Given the description of an element on the screen output the (x, y) to click on. 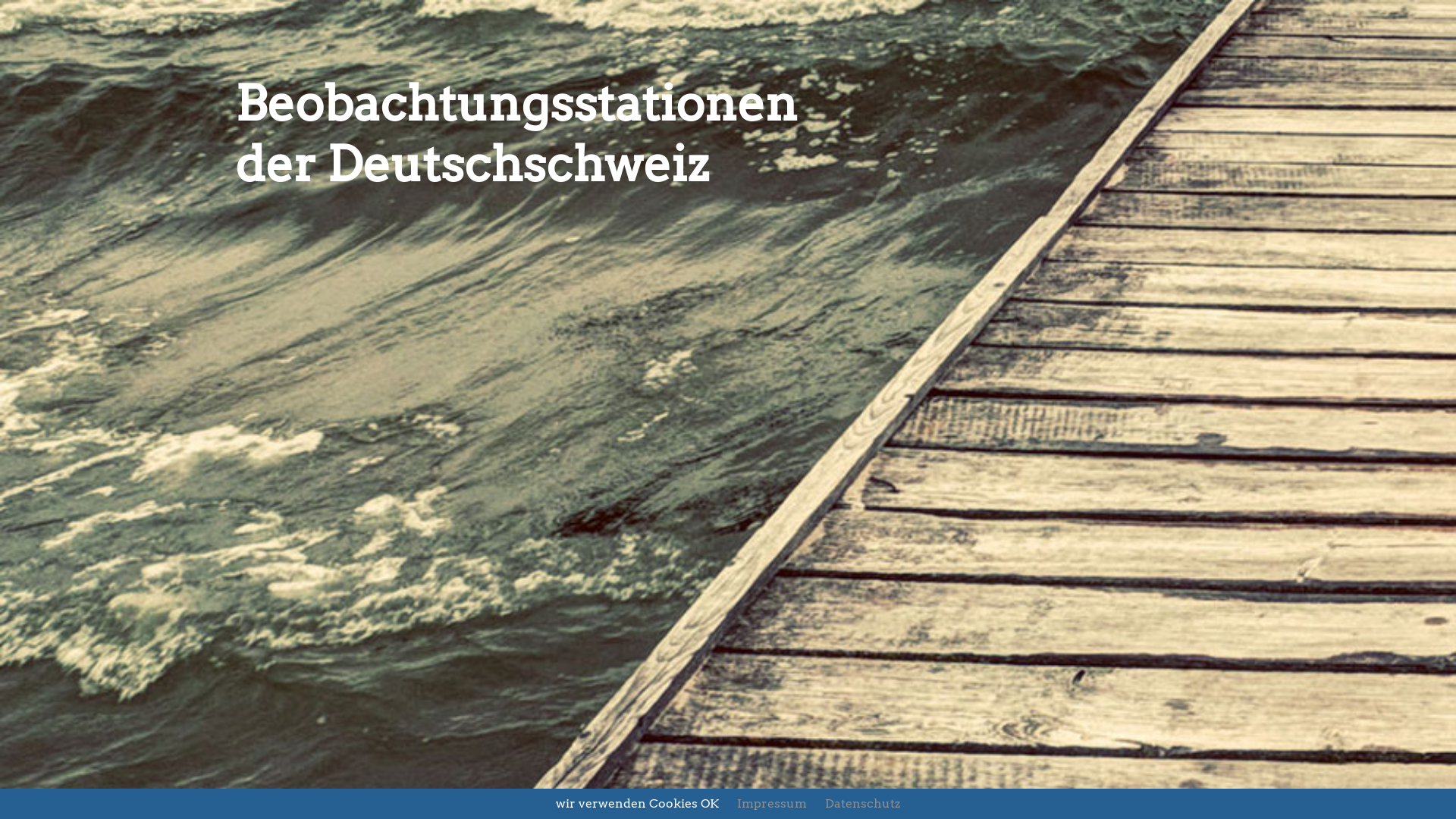
Impressum Element type: text (771, 803)
Datenschutz Element type: text (862, 803)
Beobachtungsstationen
der Deutschschweiz Element type: text (727, 404)
